Given the description of an element on the screen output the (x, y) to click on. 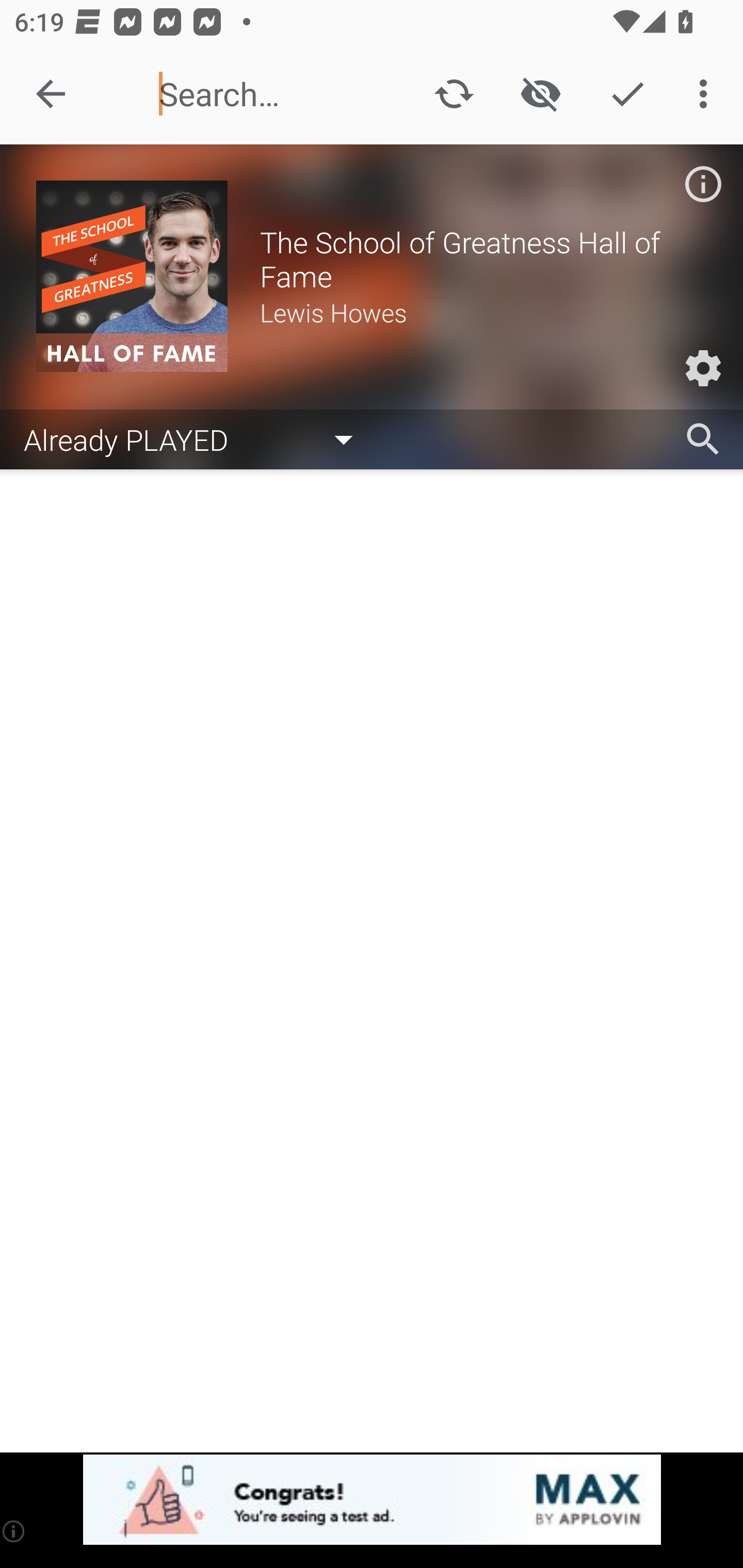
Collapse (50, 93)
Update (453, 93)
Show / Hide played content (540, 93)
Action Mode (626, 93)
More options (706, 93)
Search… (270, 94)
Podcast description (703, 184)
Lewis Howes (483, 311)
Custom Settings (703, 368)
Search (703, 439)
Already PLAYED (197, 438)
app-monetization (371, 1500)
(i) (14, 1531)
